Given the description of an element on the screen output the (x, y) to click on. 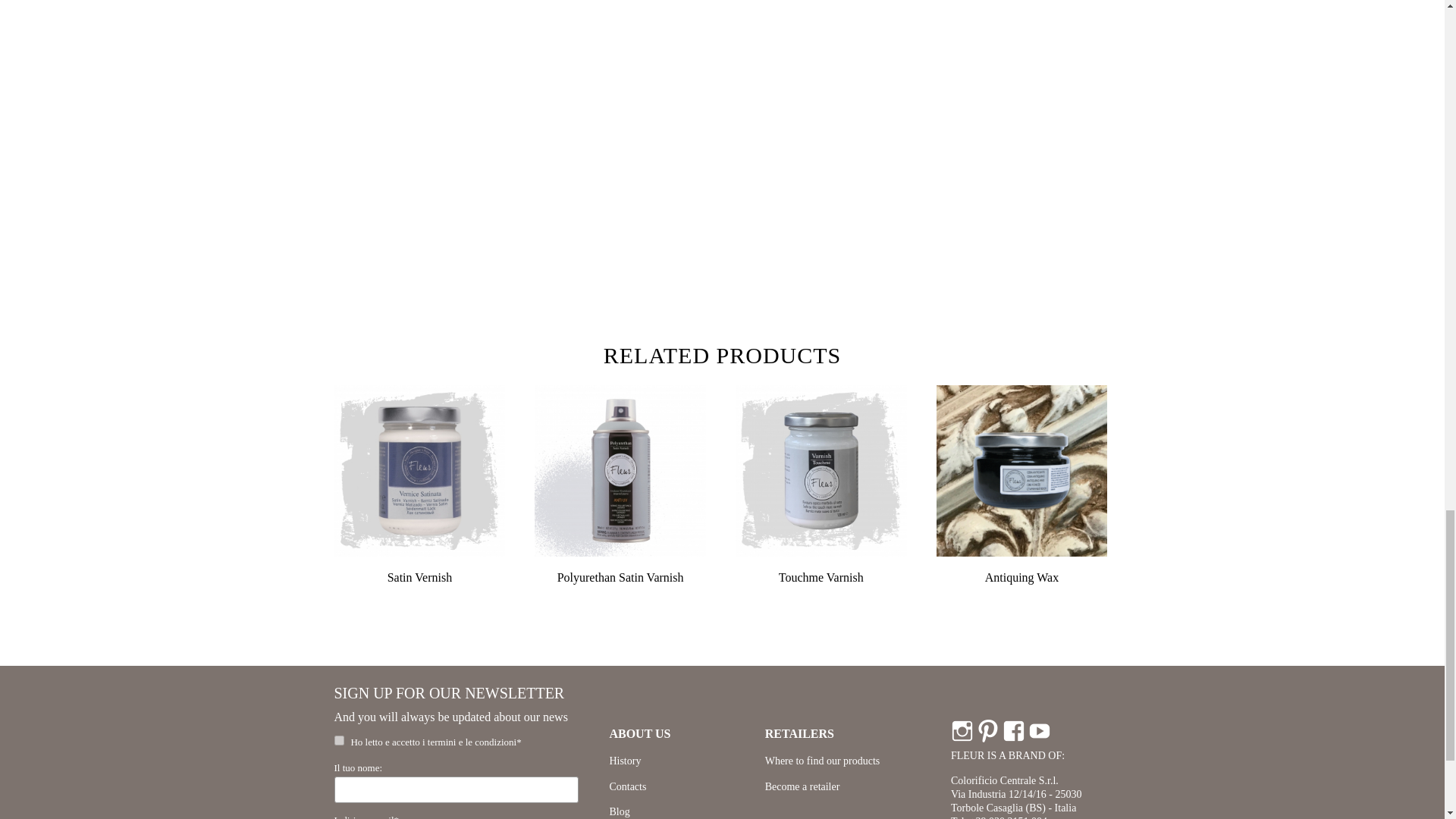
Contacts (627, 786)
History (624, 760)
Become a retailer (802, 786)
Where to find our products (822, 760)
1 (338, 740)
Blog (618, 811)
